Given the description of an element on the screen output the (x, y) to click on. 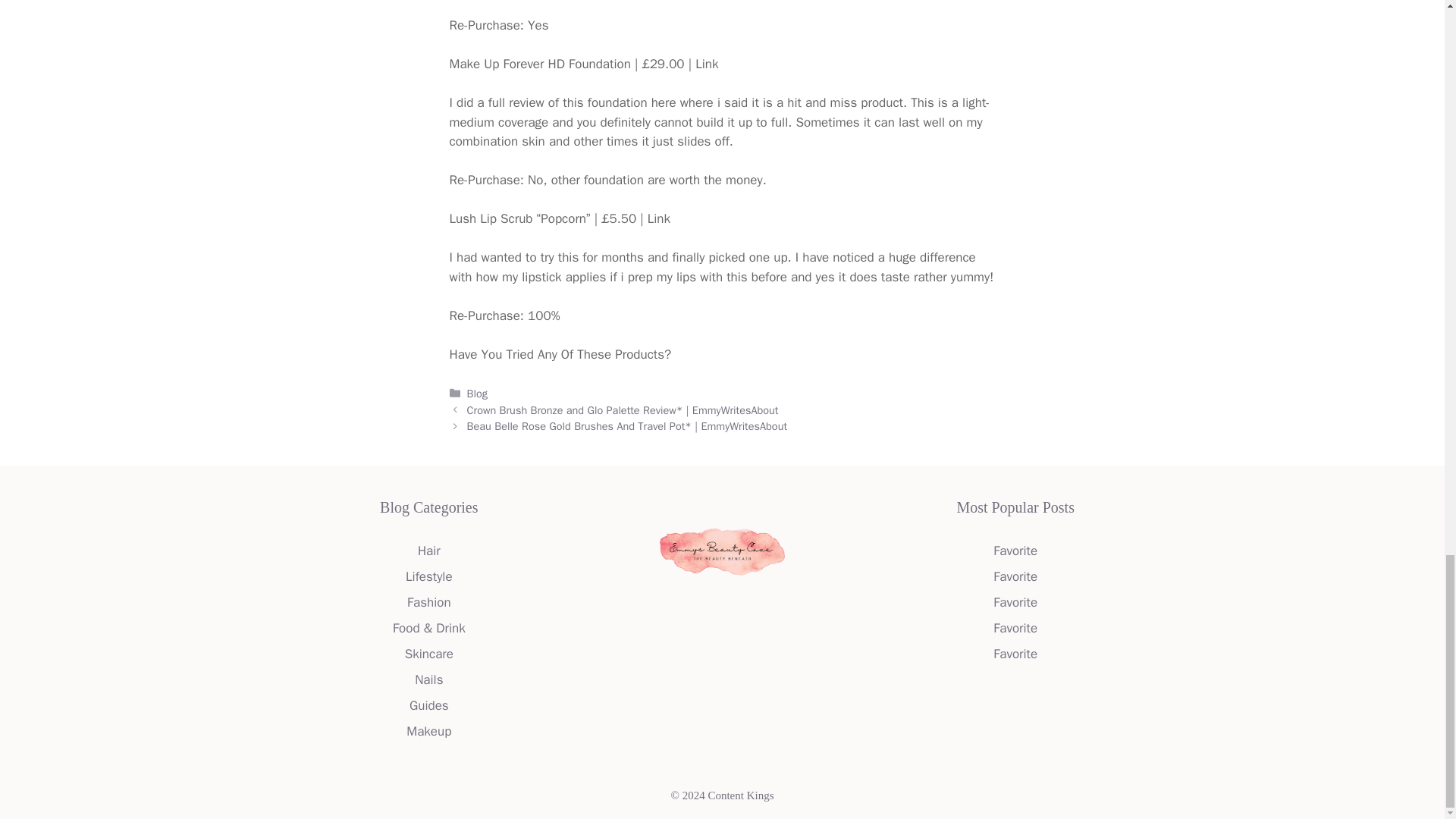
Blog (477, 393)
Fashion (429, 602)
Hair (429, 550)
Guides (428, 705)
Skincare (428, 653)
Nails (428, 679)
Lifestyle (428, 576)
Makeup (428, 731)
